Given the description of an element on the screen output the (x, y) to click on. 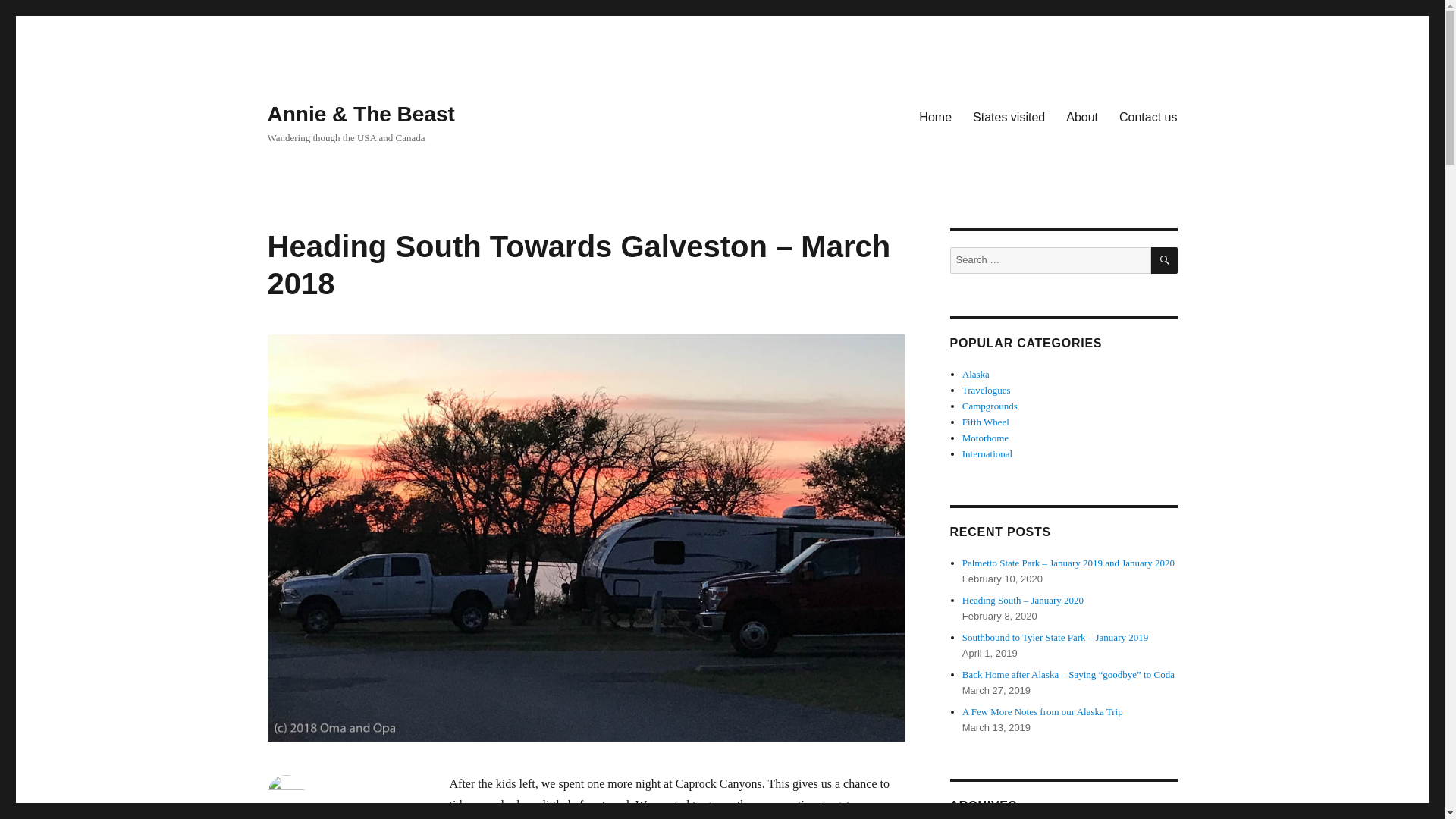
Alaska (976, 374)
Campgrounds (989, 405)
Motorhome (985, 437)
Travelogues (986, 389)
Home (935, 116)
States visited (1008, 116)
Contact us (1148, 116)
Fifth Wheel (985, 421)
SEARCH (1164, 260)
About (1081, 116)
International (986, 453)
